Given the description of an element on the screen output the (x, y) to click on. 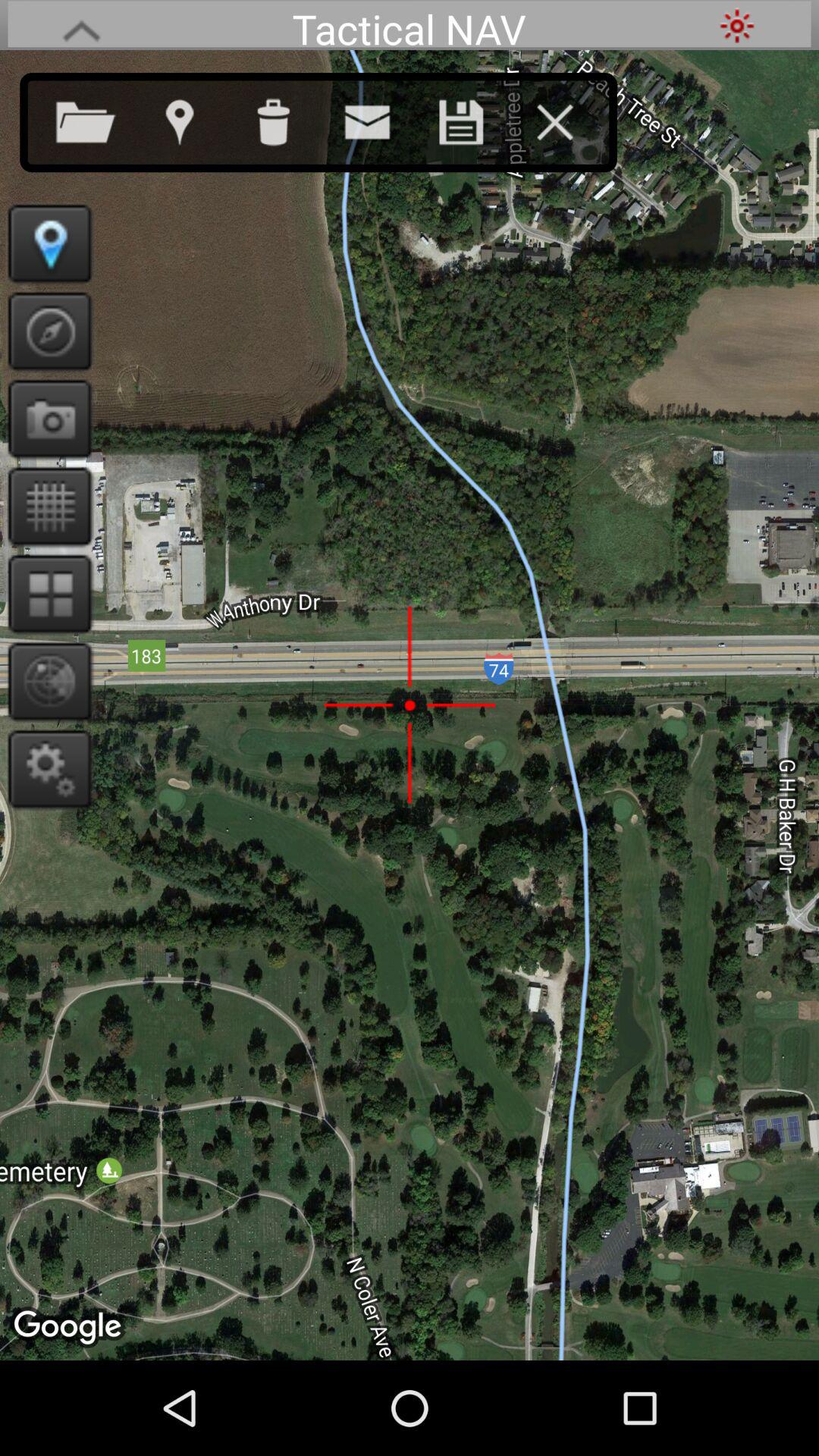
hide header (81, 25)
